Given the description of an element on the screen output the (x, y) to click on. 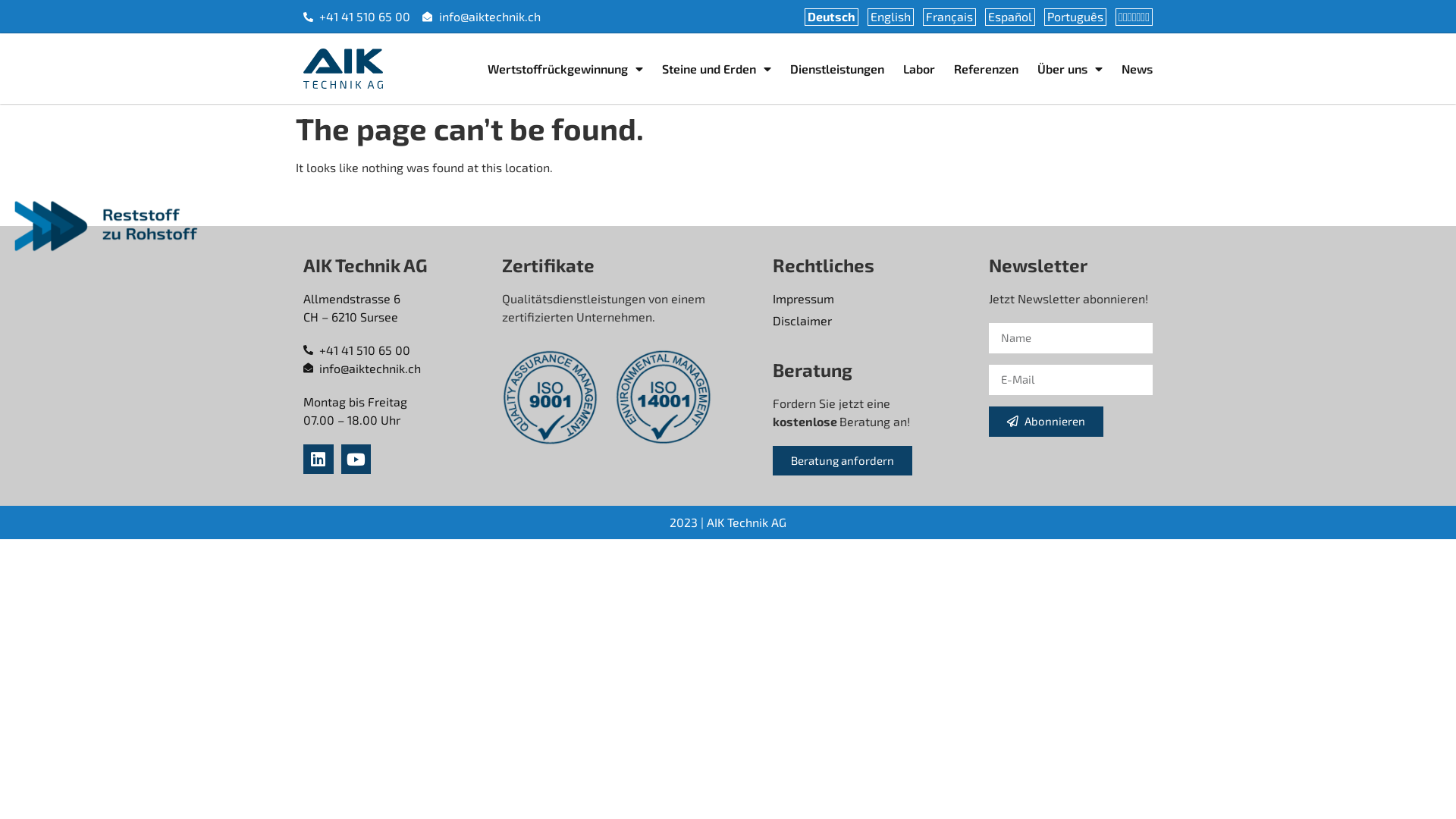
Beratung anfordern Element type: text (842, 460)
Labor Element type: text (919, 68)
Steine und Erden Element type: text (716, 68)
Abonnieren Element type: text (1045, 421)
Referenzen Element type: text (985, 68)
Disclaimer Element type: text (872, 320)
+41 41 510 65 00 Element type: text (356, 16)
News Element type: text (1136, 68)
Dienstleistungen Element type: text (837, 68)
Impressum Element type: text (872, 298)
info@aiktechnik.ch Element type: text (394, 368)
English Element type: text (890, 16)
info@aiktechnik.ch Element type: text (480, 16)
Deutsch Element type: text (831, 16)
+41 41 510 65 00 Element type: text (394, 350)
